Given the description of an element on the screen output the (x, y) to click on. 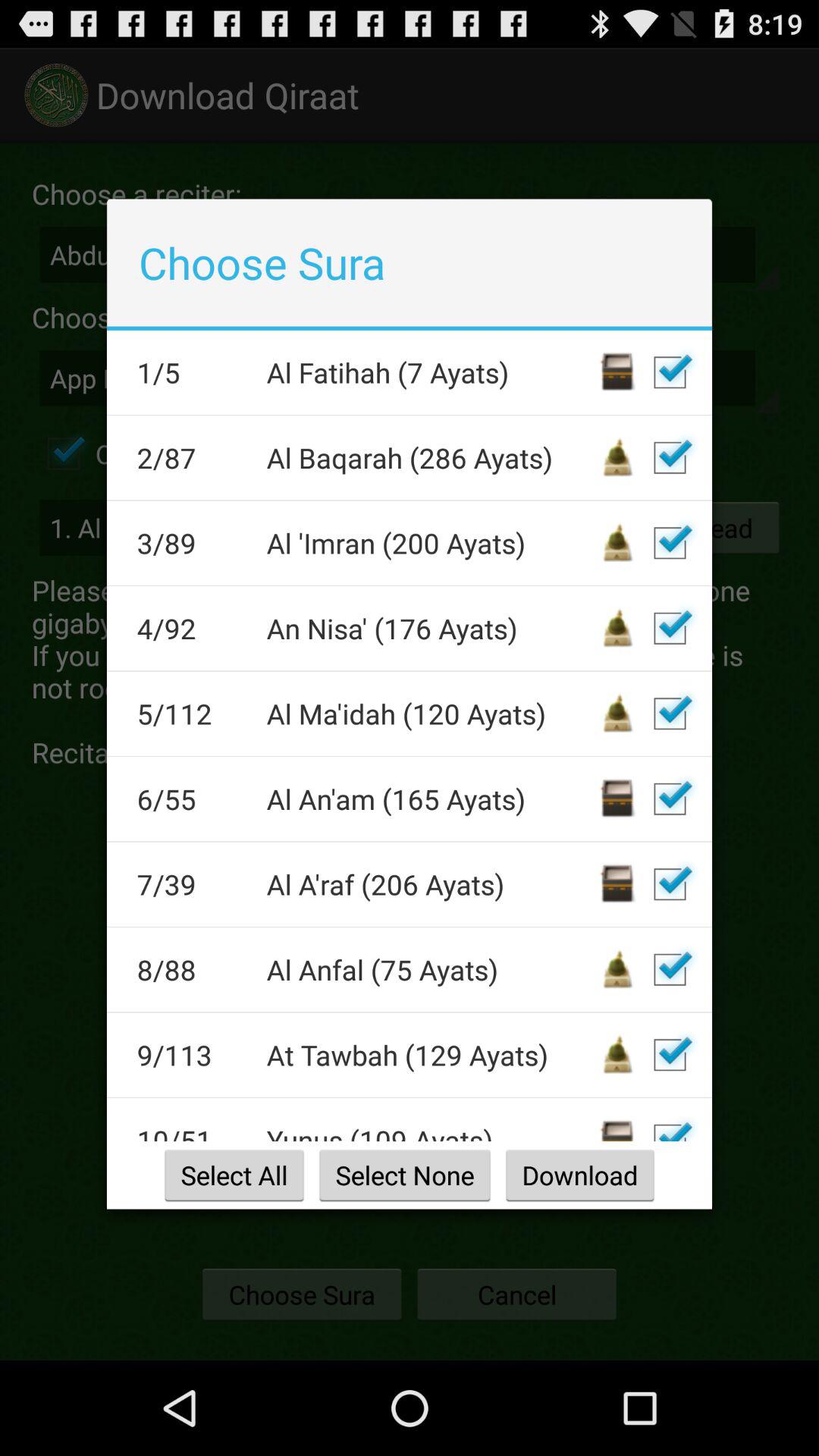
press item above the 10/51 icon (191, 1054)
